Given the description of an element on the screen output the (x, y) to click on. 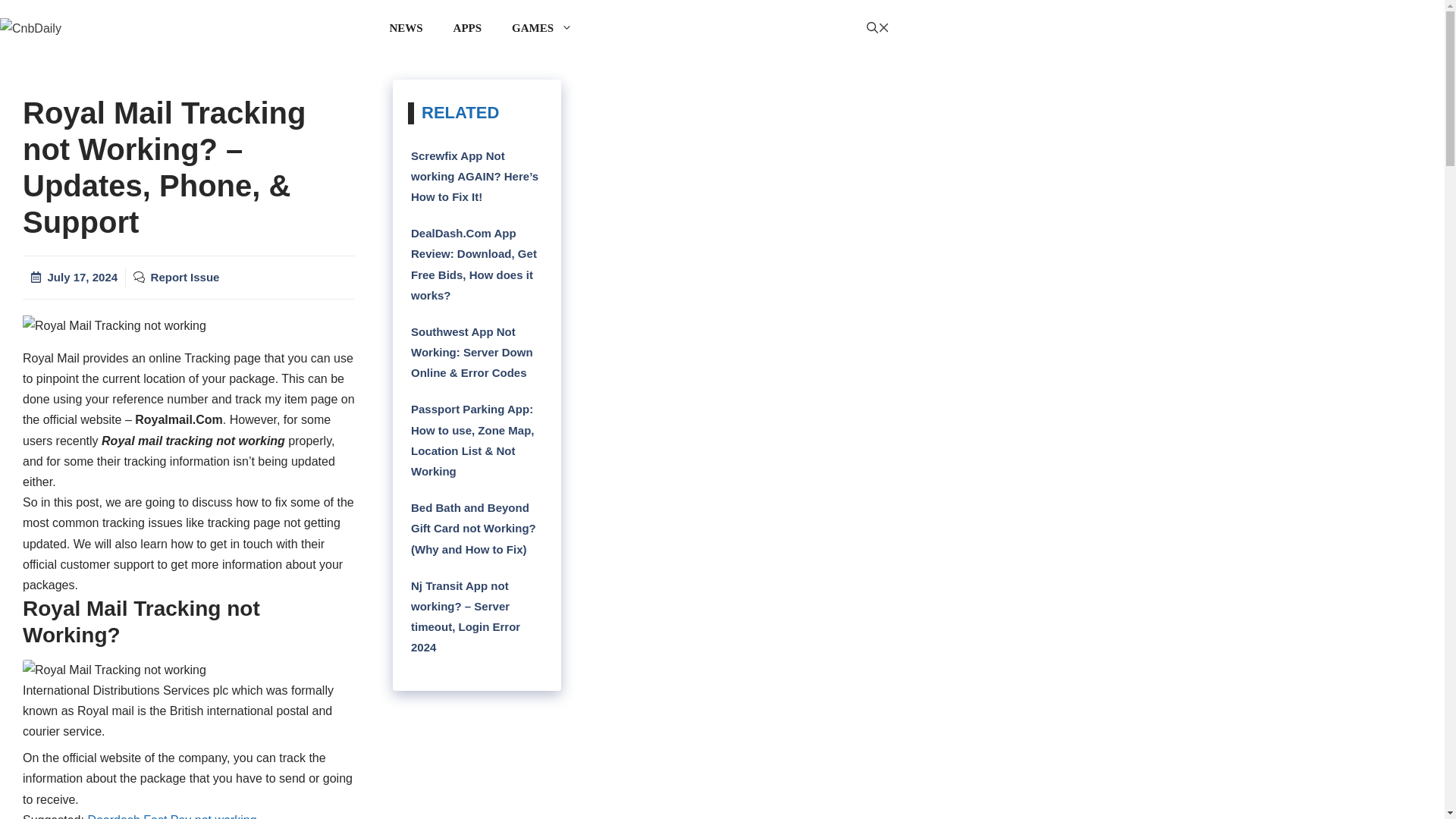
Report Issue (185, 277)
Doordash Fast Pay not working (171, 816)
APPS (467, 28)
GAMES (542, 28)
NEWS (406, 28)
